Given the description of an element on the screen output the (x, y) to click on. 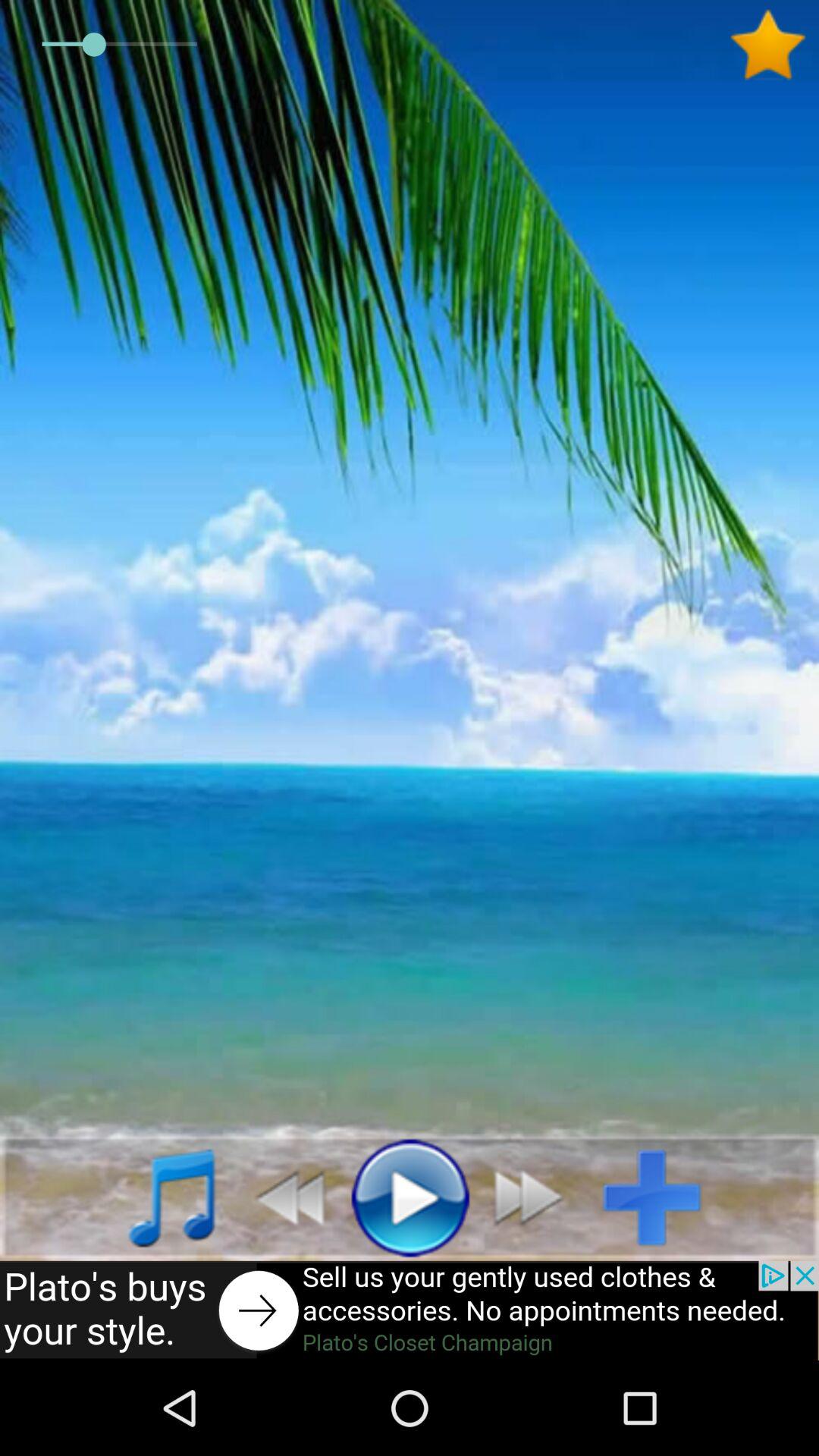
click to add option (664, 1196)
